Given the description of an element on the screen output the (x, y) to click on. 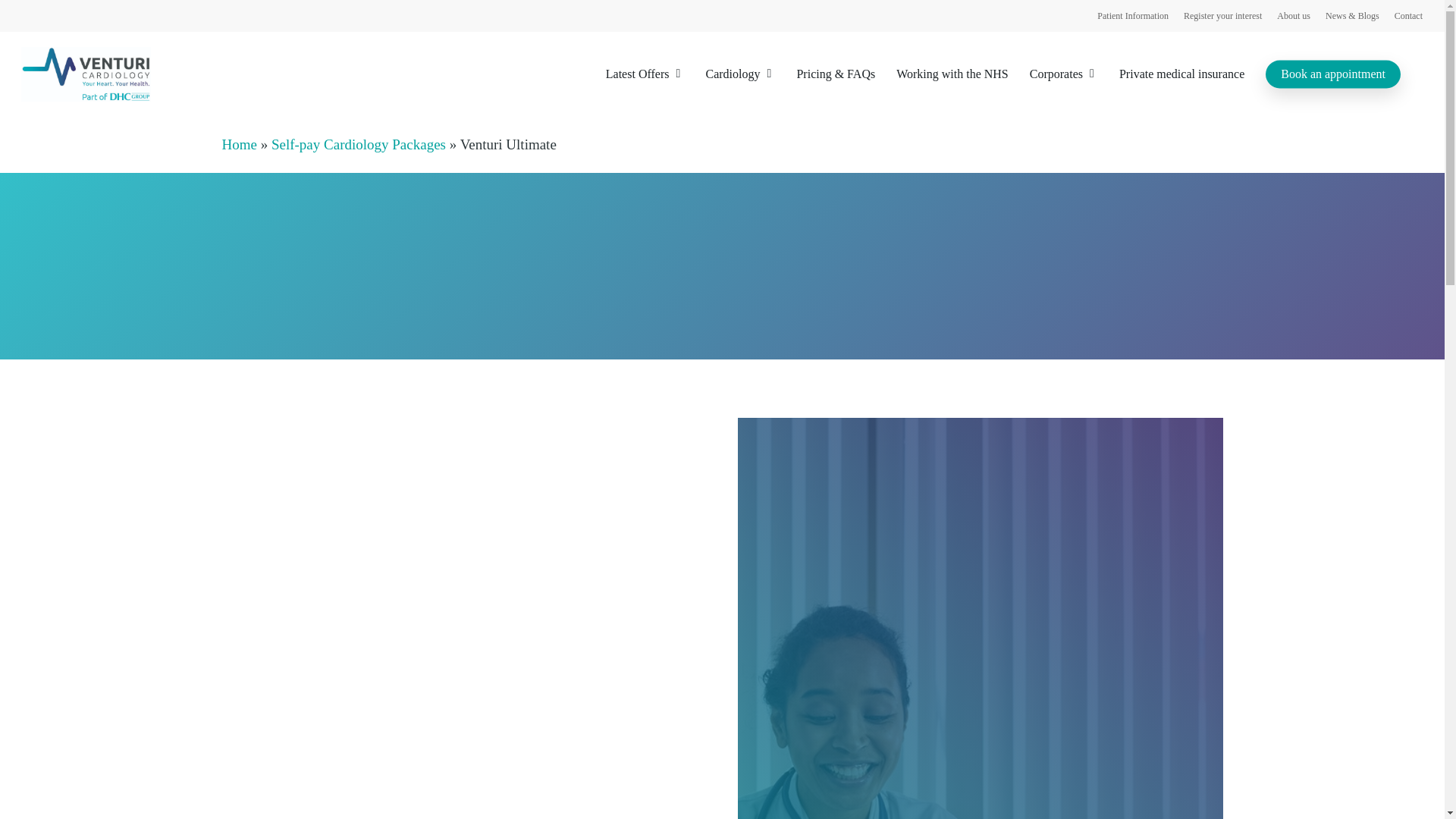
Corporates (1063, 73)
Cardiology (739, 73)
Home (238, 144)
Contact (1408, 15)
About us (1293, 15)
Patient Information (1133, 15)
Self-pay Cardiology Packages (357, 144)
Private medical insurance (1181, 73)
Latest Offers (644, 73)
Book an appointment (1332, 73)
